Given the description of an element on the screen output the (x, y) to click on. 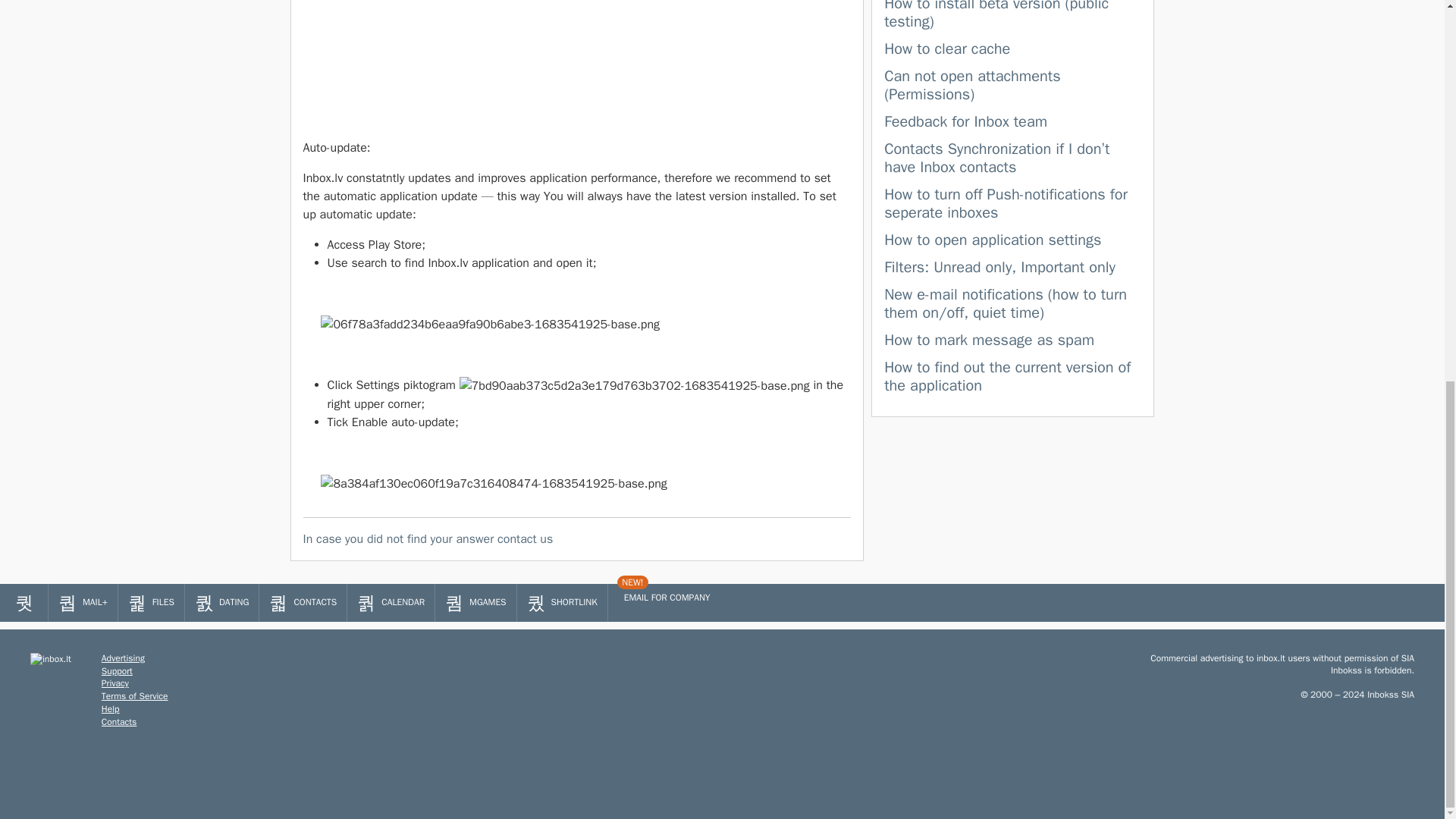
SHORTLINK (561, 602)
Filters: Unread only, Important only (999, 266)
Feedback for Inbox team (964, 121)
CONTACTS (302, 602)
EMAIL FOR COMPANY (664, 596)
How to open application settings (991, 239)
How to clear cache (946, 48)
CALENDAR (390, 602)
How to mark message as spam (988, 339)
DATING (221, 602)
